Given the description of an element on the screen output the (x, y) to click on. 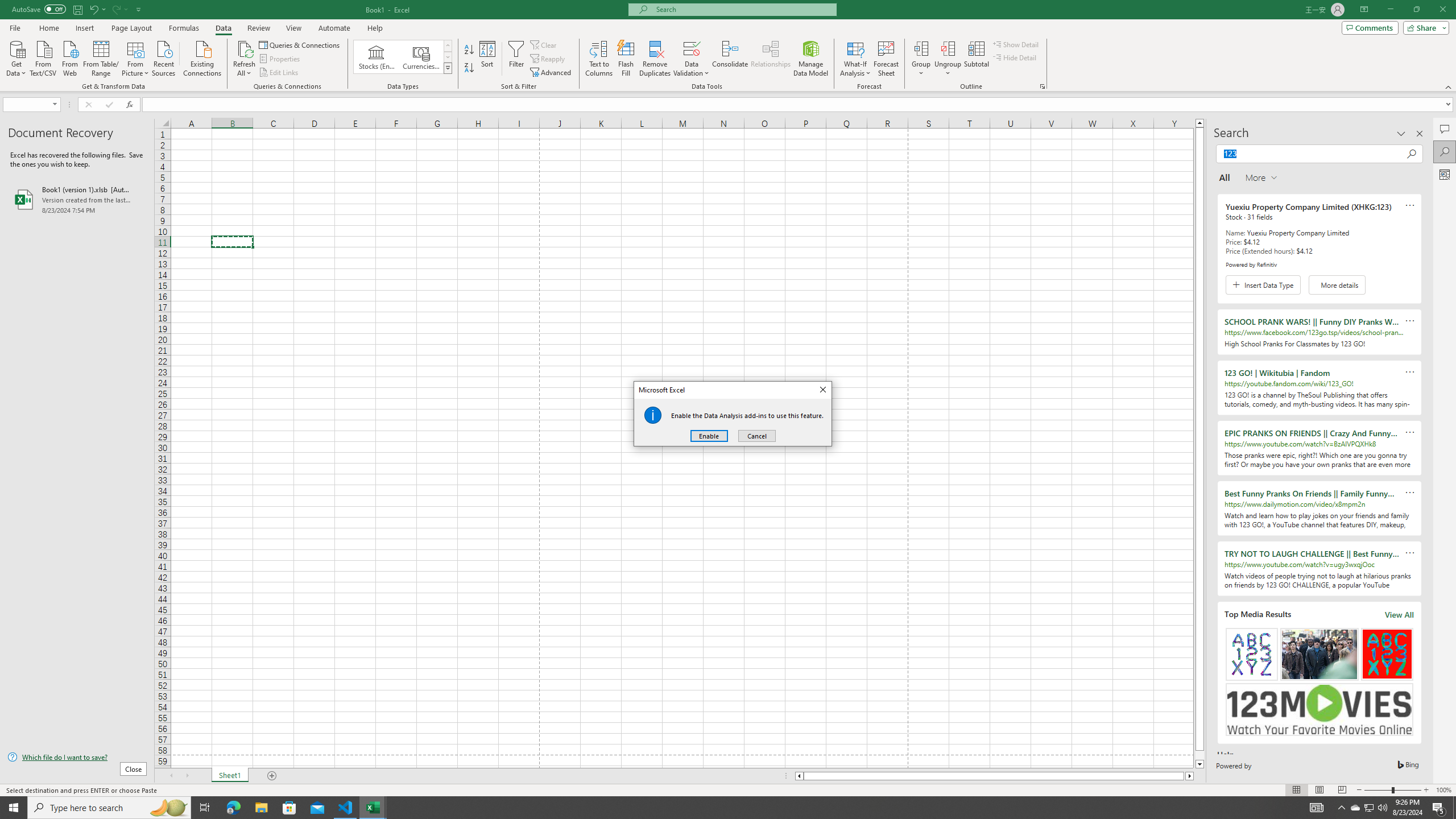
Type here to search (108, 807)
